Given the description of an element on the screen output the (x, y) to click on. 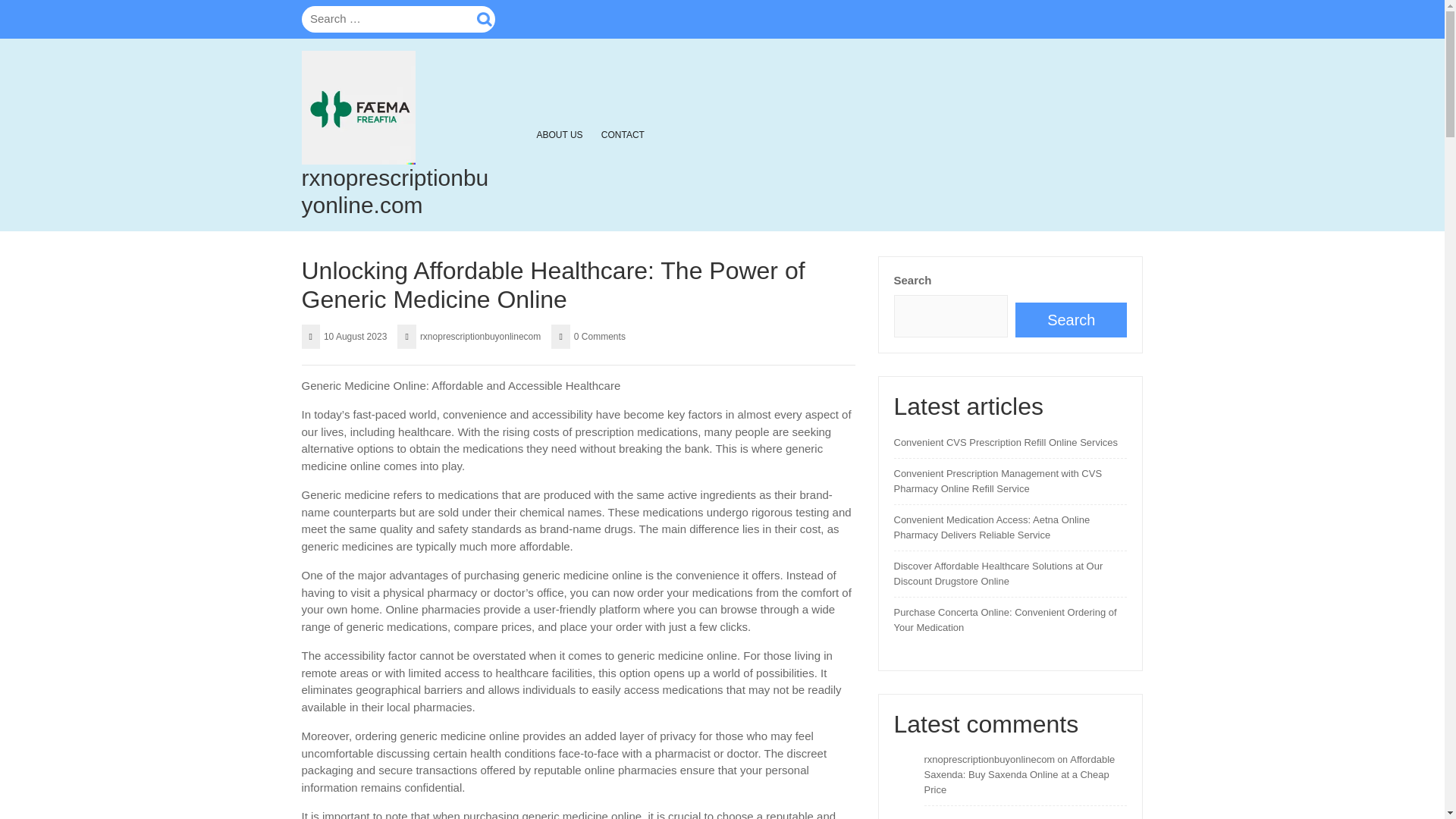
ABOUT US (560, 133)
Search (1070, 319)
rxnoprescriptionbuyonline.com (395, 191)
Affordable Saxenda: Buy Saxenda Online at a Cheap Price (1019, 774)
rxnoprescriptionbuyonlinecom (988, 758)
Convenient CVS Prescription Refill Online Services (1005, 441)
